Given the description of an element on the screen output the (x, y) to click on. 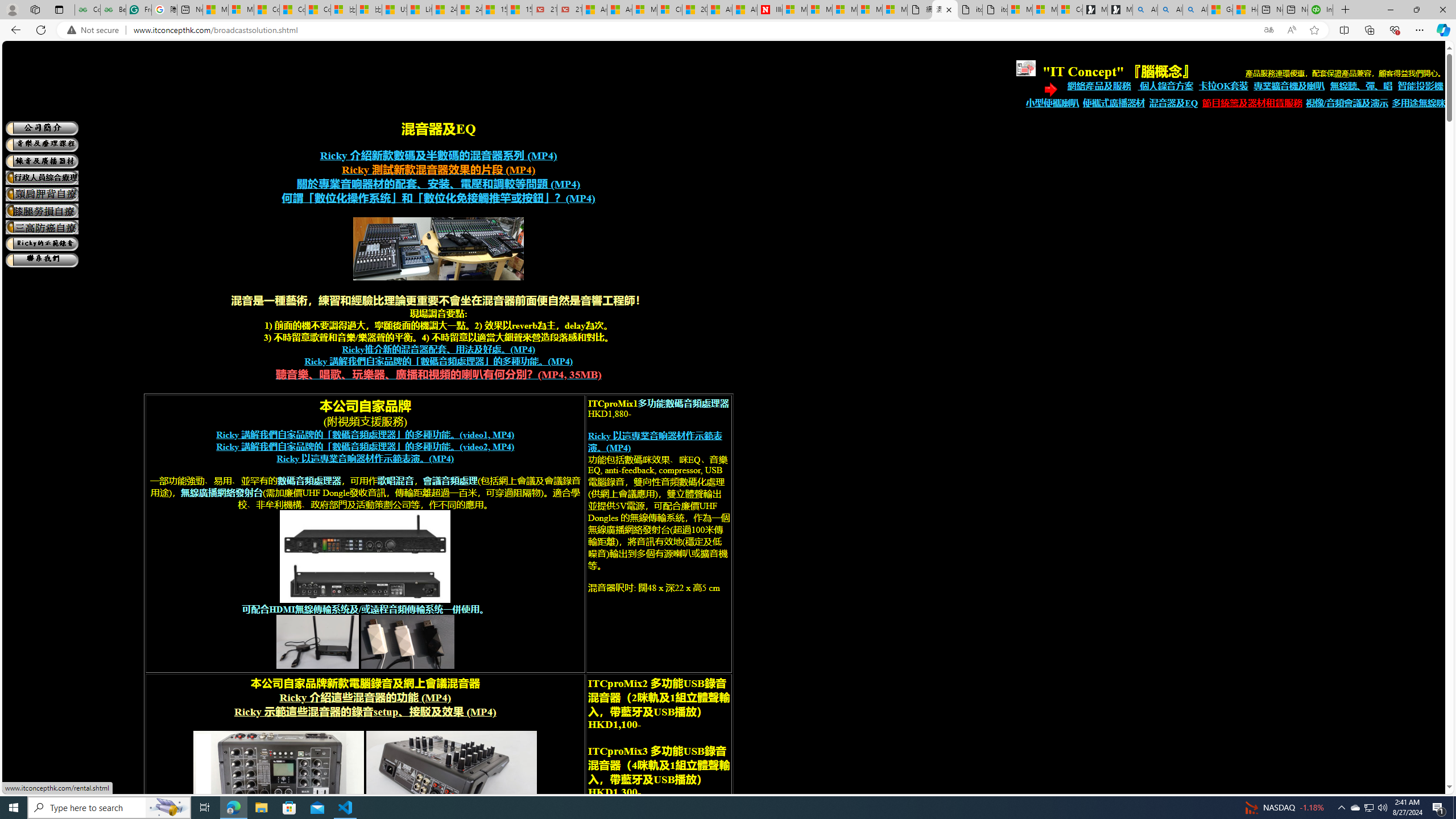
Intuit QuickBooks Online - Quickbooks (1320, 9)
Alabama high school quarterback dies - Search Videos (1194, 9)
itconcepthk.com/projector_solutions.mp4 (993, 9)
Alabama high school quarterback dies - Search (1144, 9)
